Given the description of an element on the screen output the (x, y) to click on. 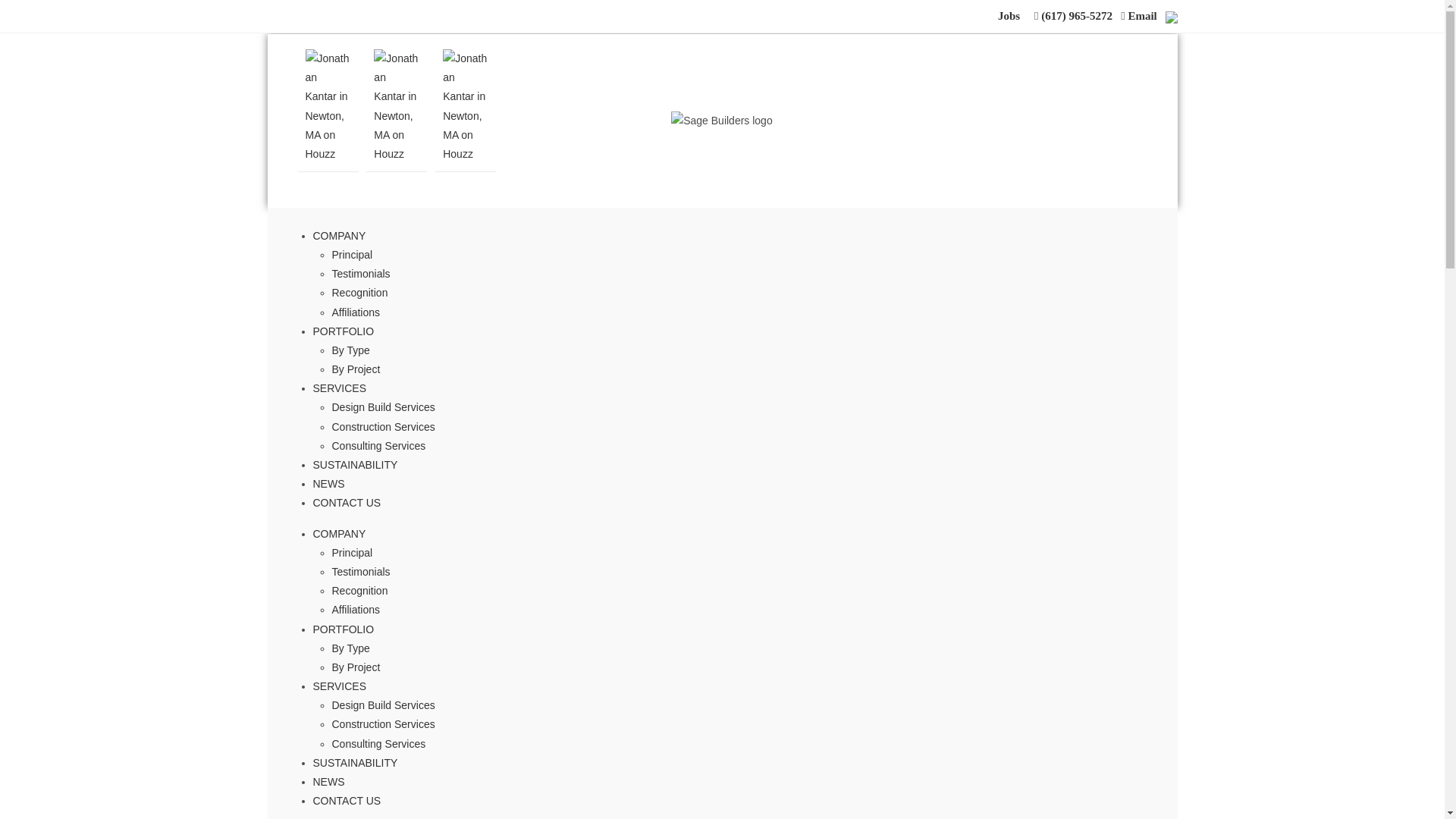
SERVICES (339, 387)
By Project (355, 369)
CONTACT US (346, 502)
COMPANY (339, 533)
Consulting Services (378, 743)
SUSTAINABILITY (355, 464)
Design Build Services (383, 407)
PORTFOLIO (343, 331)
Consulting Services (378, 445)
sagelogosmall (722, 120)
By Type (350, 648)
By Project (355, 666)
CONTACT US (346, 800)
Construction Services (383, 426)
Principal (351, 254)
